Given the description of an element on the screen output the (x, y) to click on. 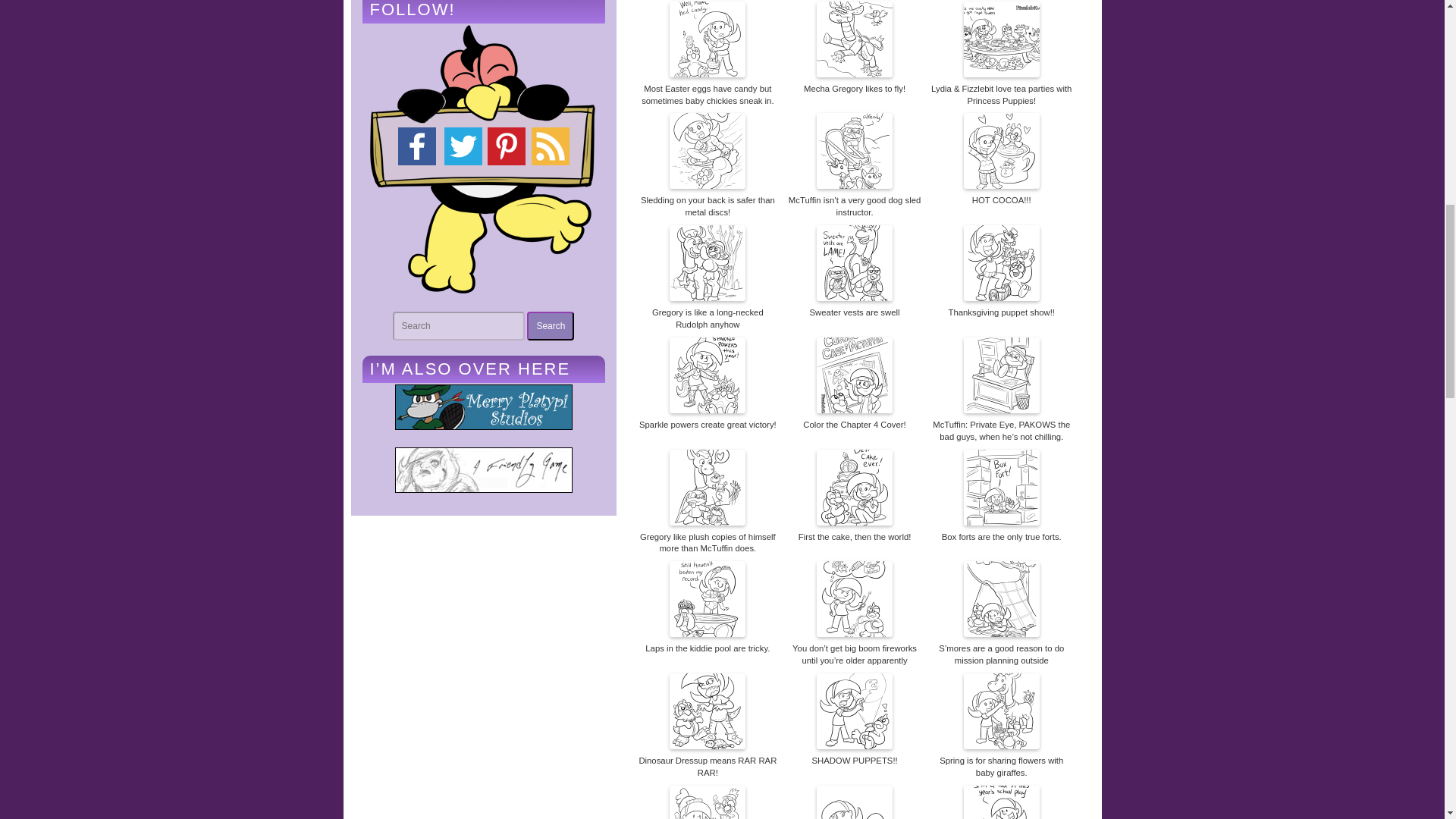
Facebook (416, 146)
Pinterest (550, 146)
Twitter (462, 146)
Search (550, 326)
Pinterest (506, 146)
